Given the description of an element on the screen output the (x, y) to click on. 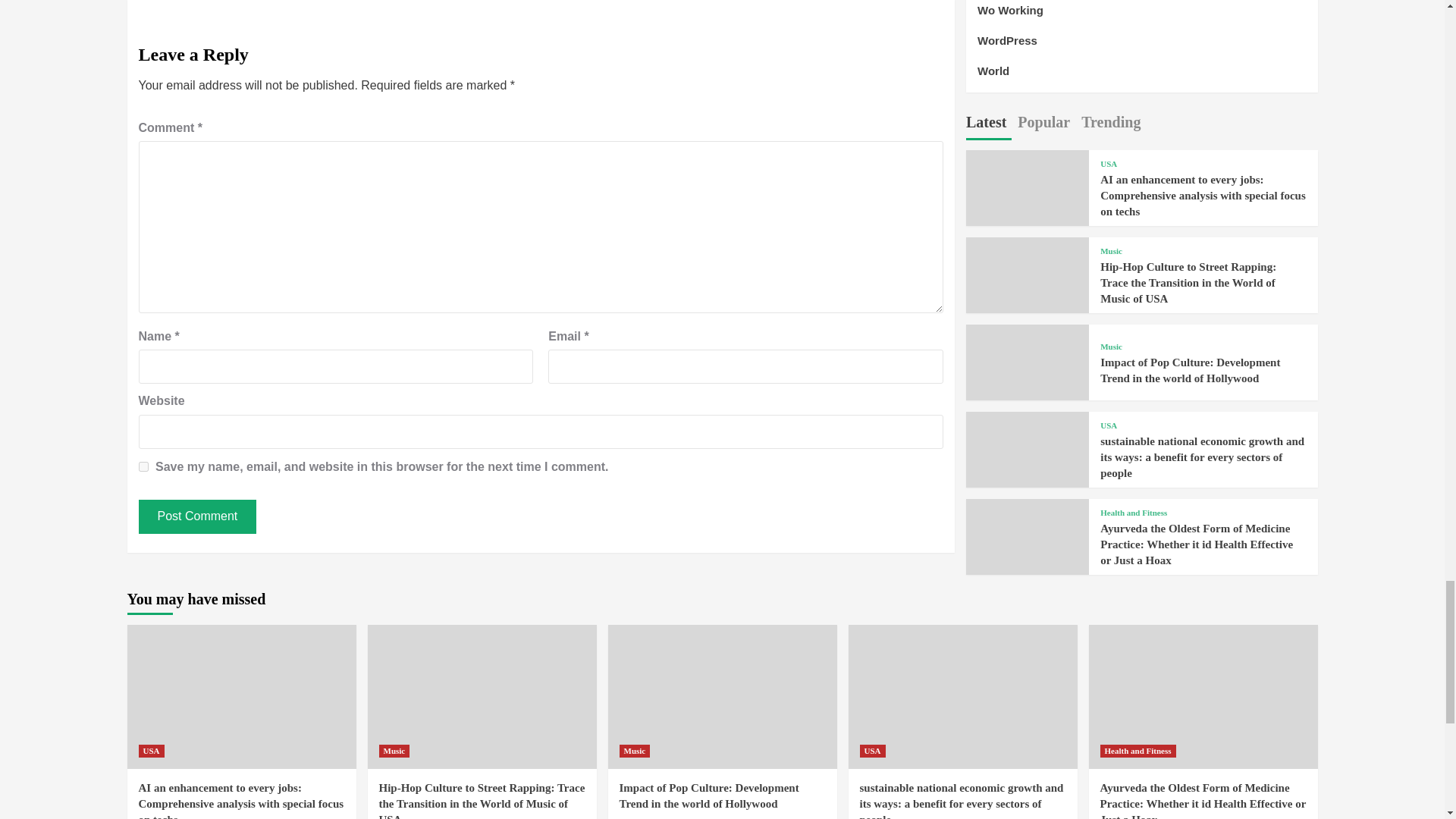
yes (143, 466)
Post Comment (197, 515)
